Given the description of an element on the screen output the (x, y) to click on. 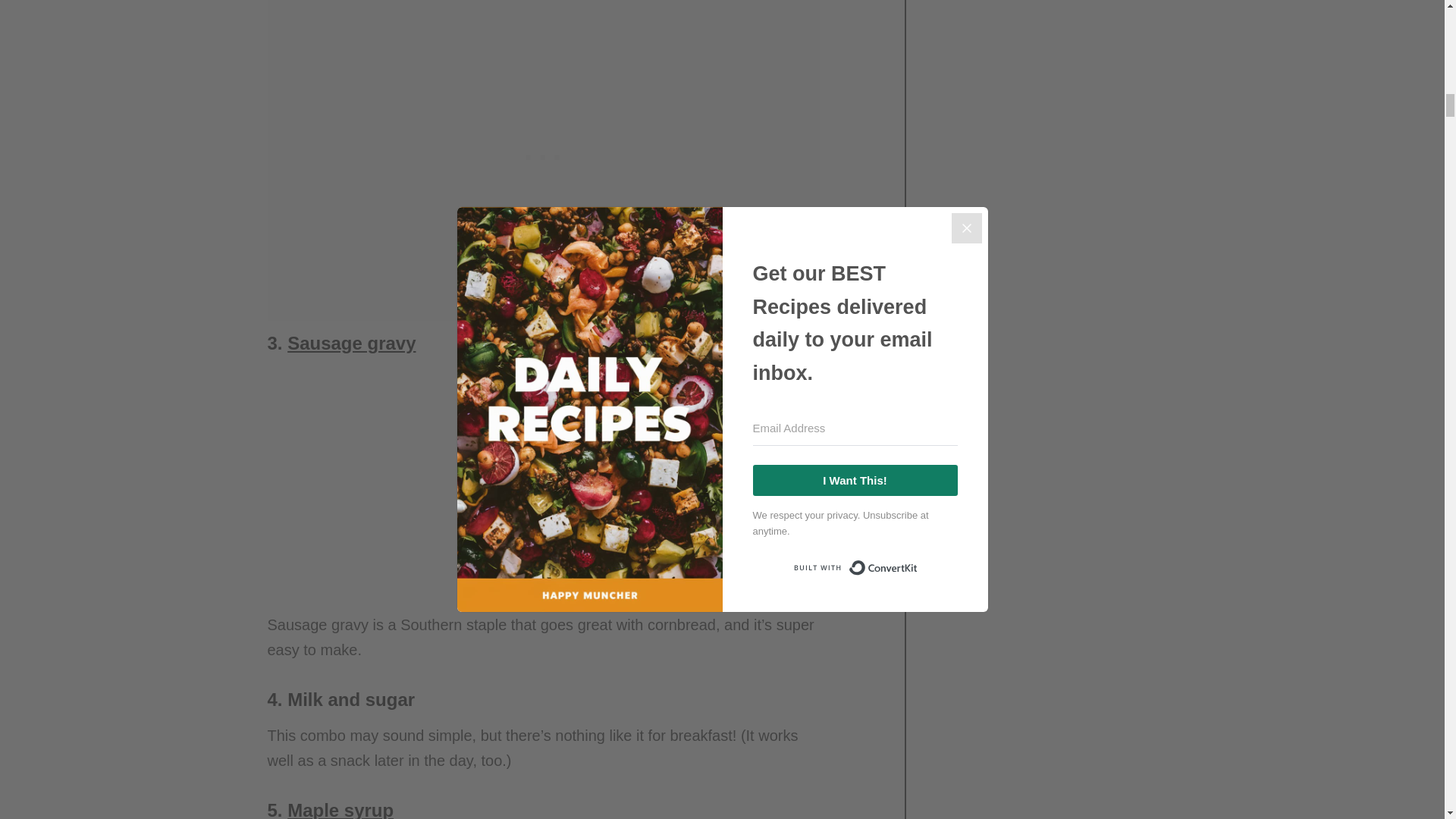
Maple syrup (339, 809)
Sausage gravy (350, 342)
